Given the description of an element on the screen output the (x, y) to click on. 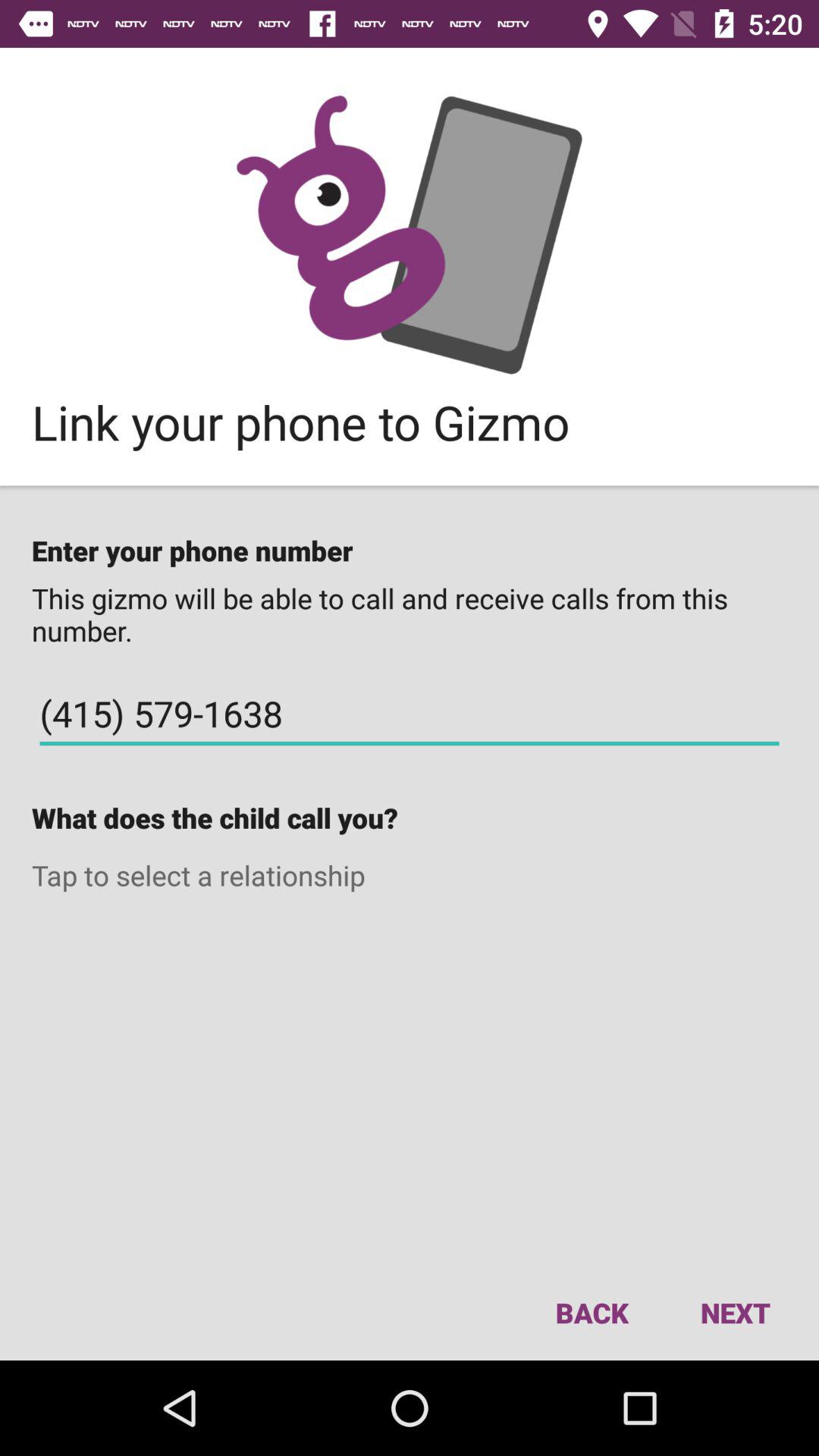
open the item below tap to select icon (591, 1312)
